Given the description of an element on the screen output the (x, y) to click on. 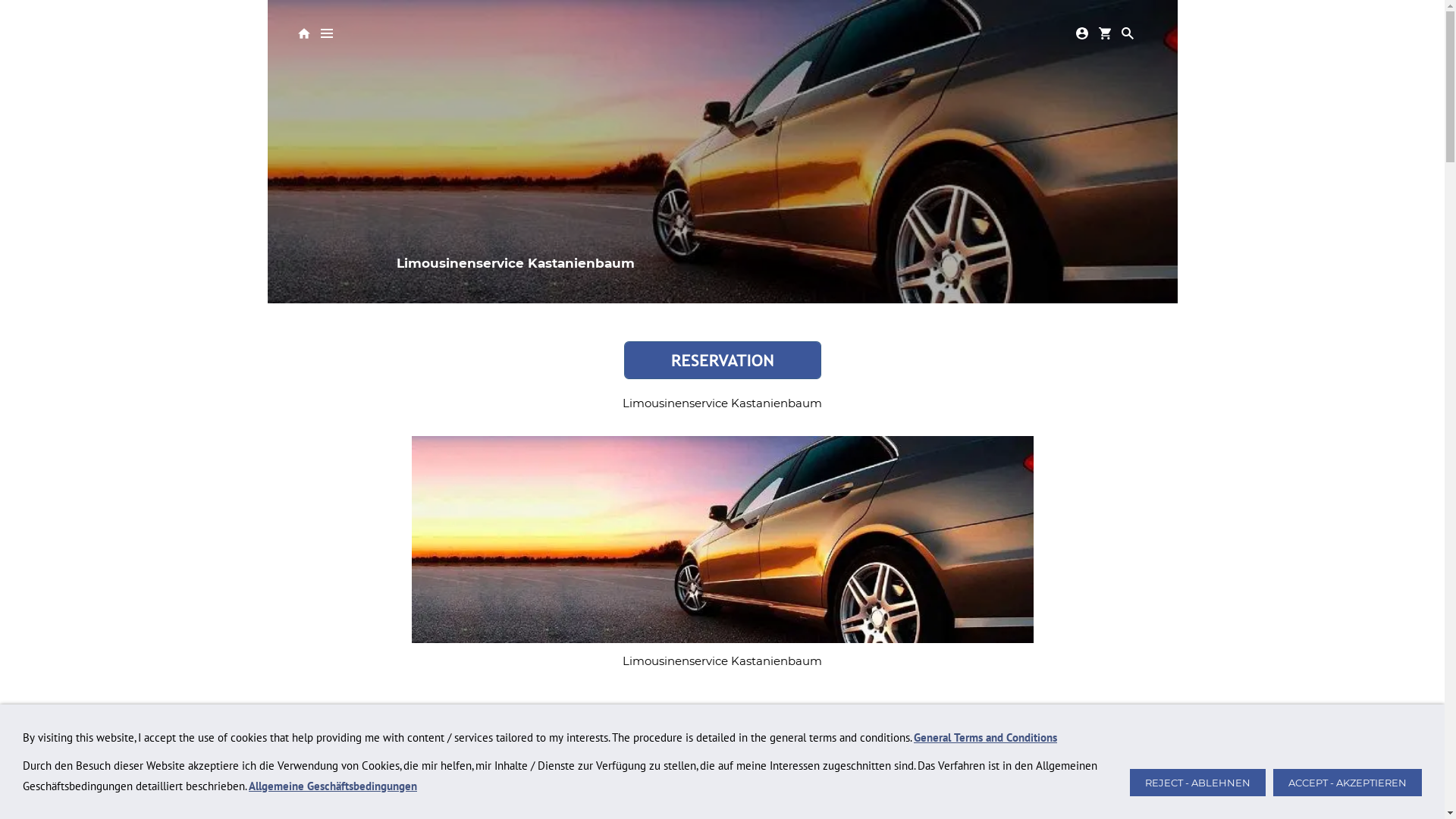
A1 Chauffeur Fahrservice Limousinenservice VIP Driver Element type: hover (721, 539)
REJECT - ABLEHNEN Element type: text (1197, 782)
ACCEPT - AKZEPTIEREN Element type: text (1347, 782)
General Terms and Conditions Element type: text (985, 737)
